Given the description of an element on the screen output the (x, y) to click on. 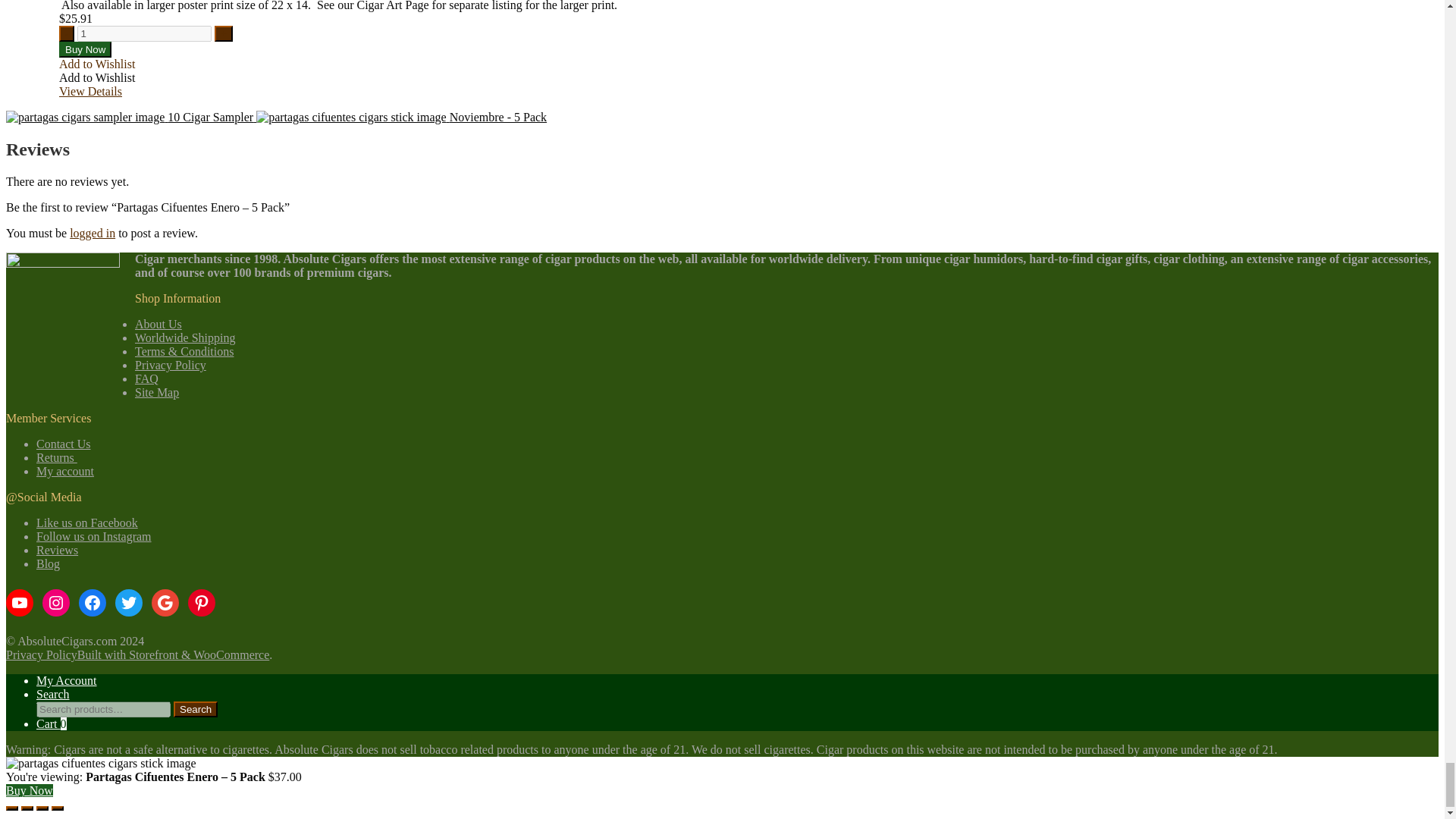
- (66, 33)
1 (144, 33)
